Given the description of an element on the screen output the (x, y) to click on. 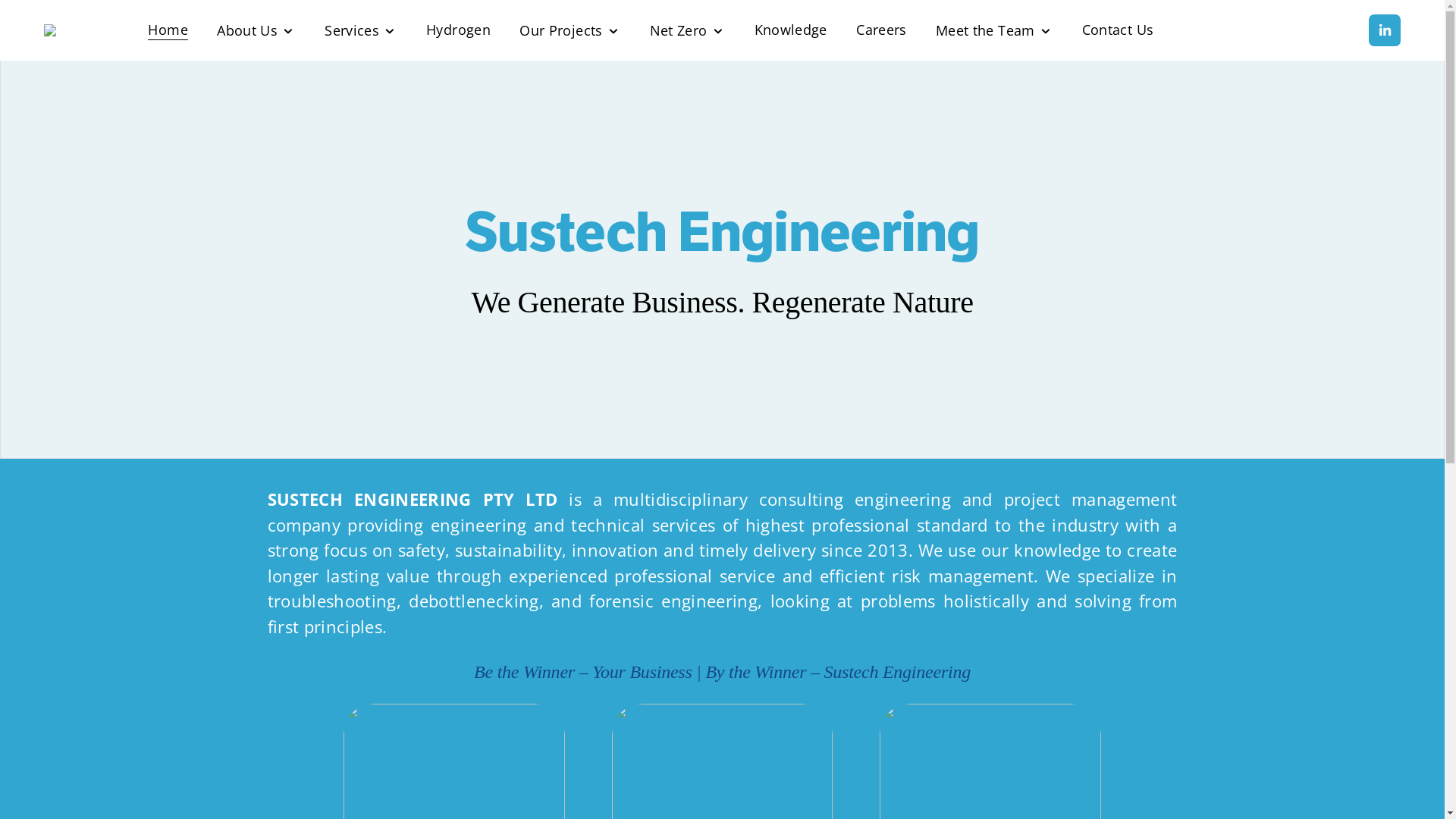
Knowledge Element type: text (790, 29)
Careers Element type: text (881, 29)
Meet the Team Element type: text (993, 30)
Hydrogen Element type: text (458, 29)
Contact Us Element type: text (1118, 29)
Services Element type: text (360, 30)
Our Projects Element type: text (569, 30)
About Us Element type: text (255, 30)
Home Element type: text (167, 29)
Net Zero Element type: text (687, 30)
